Given the description of an element on the screen output the (x, y) to click on. 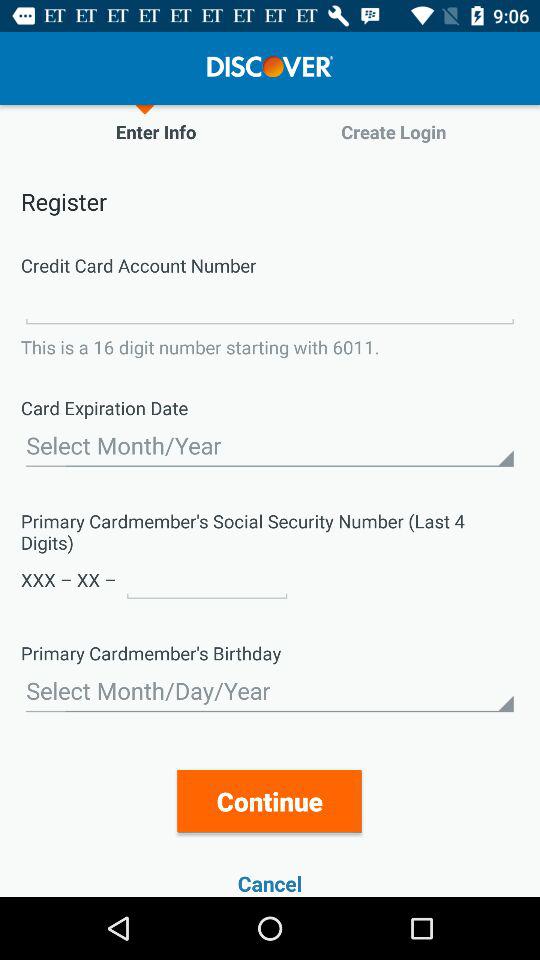
turn on continue (269, 800)
